Given the description of an element on the screen output the (x, y) to click on. 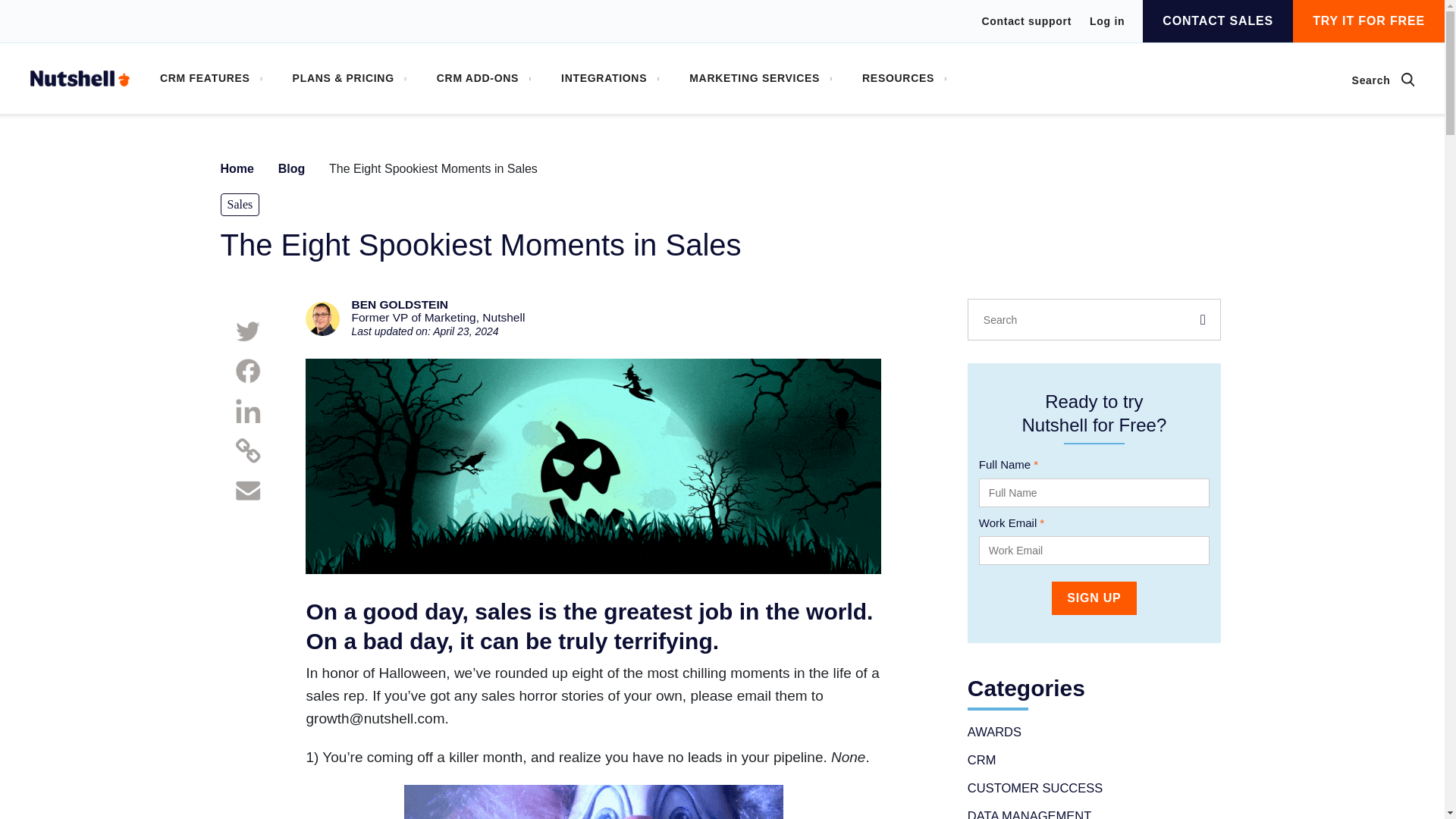
Contact support (1026, 21)
Sign Up (1093, 598)
Log in (1106, 20)
CRM ADD-ONS (483, 78)
CRM FEATURES (211, 78)
INTEGRATIONS (609, 78)
CONTACT SALES (1217, 21)
